Given the description of an element on the screen output the (x, y) to click on. 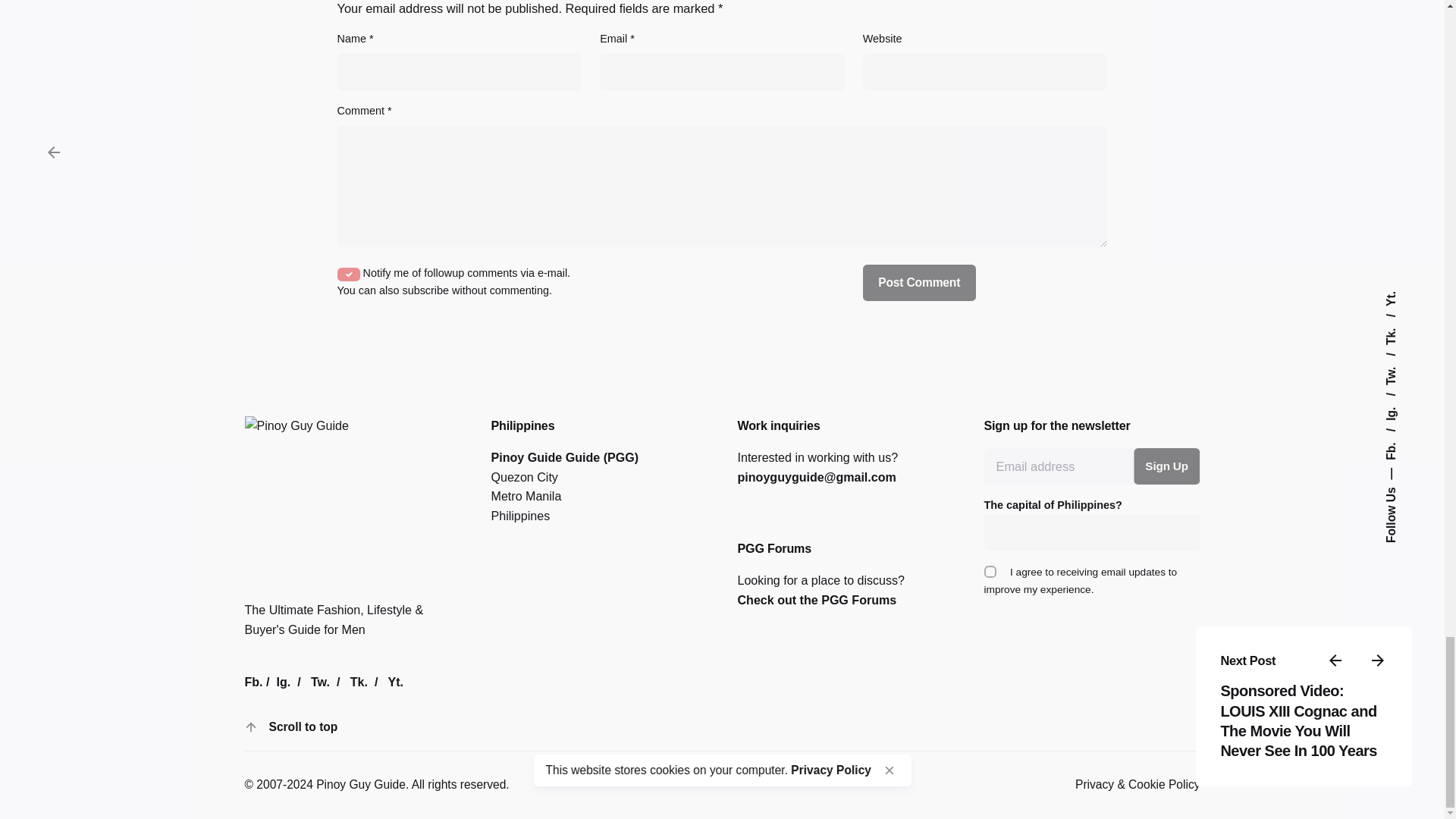
I agree to receiving email updates to improve my experience. (989, 571)
Scroll to top (284, 727)
Scroll to top (302, 727)
yes (348, 274)
Post Comment (919, 282)
Sign Up (1166, 465)
